Given the description of an element on the screen output the (x, y) to click on. 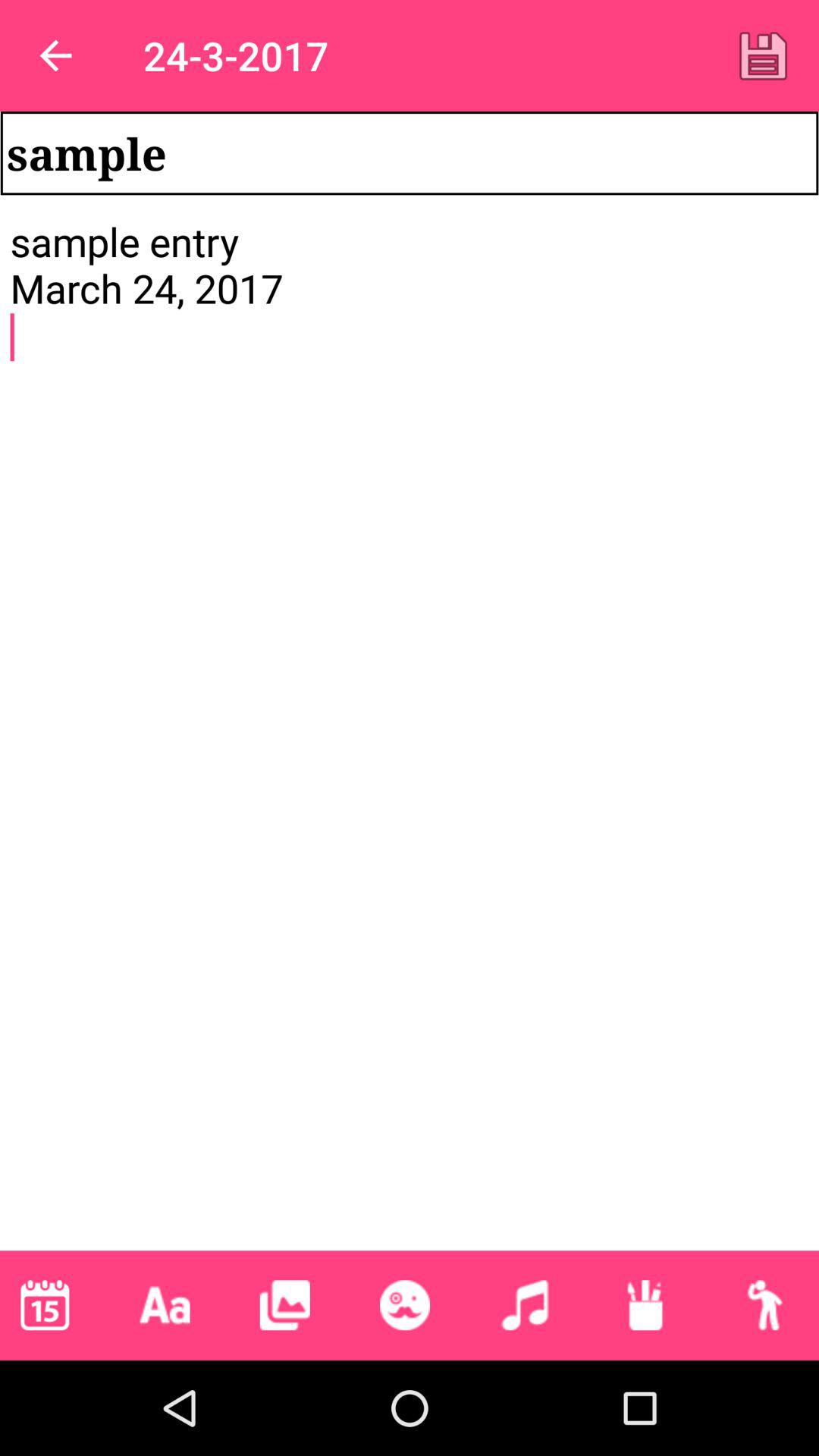
click the app to the left of 24-3-2017 app (55, 55)
